Given the description of an element on the screen output the (x, y) to click on. 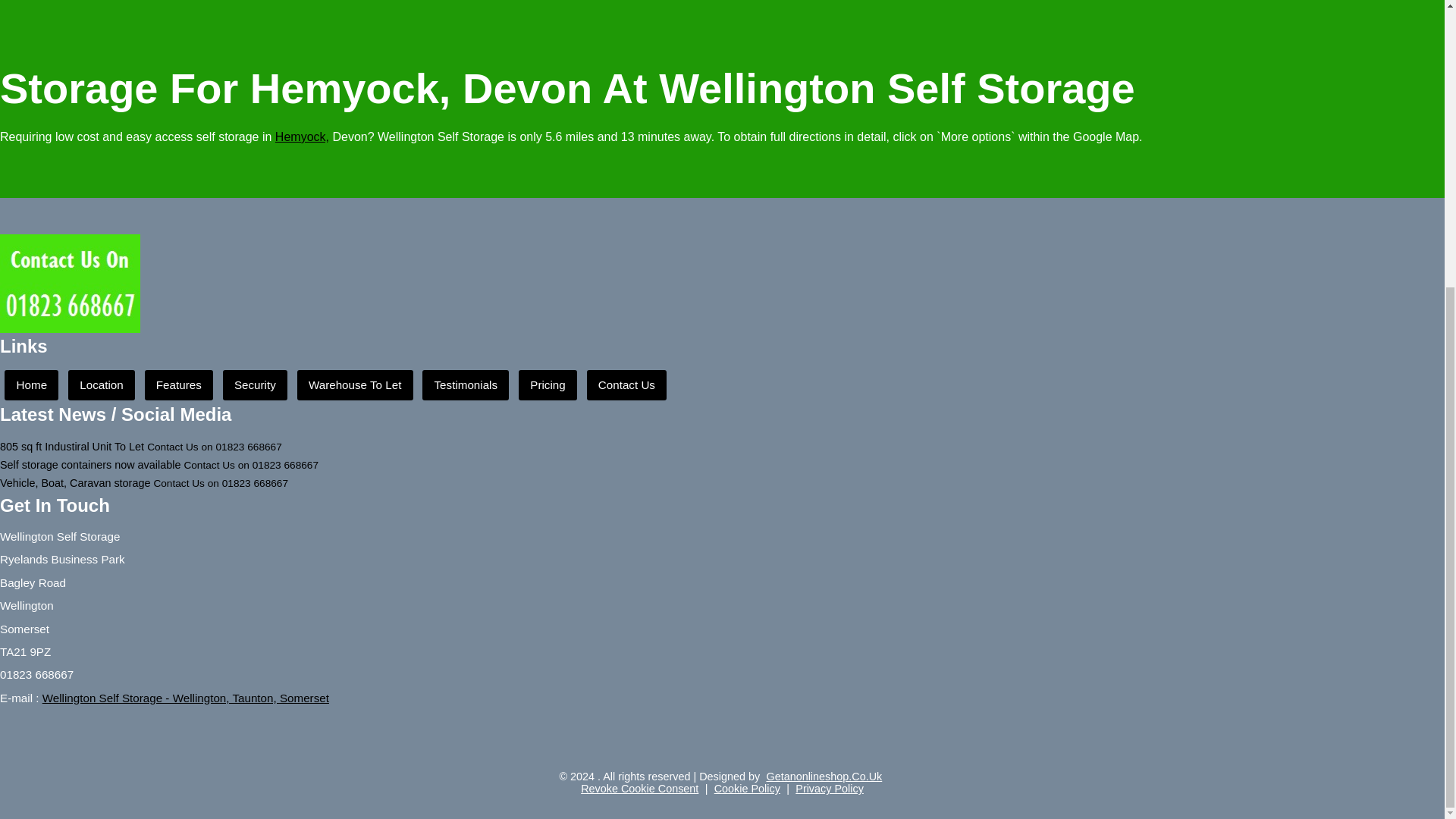
Features (178, 385)
Cookie Policy (747, 788)
Privacy Policy (828, 788)
Wellington Self Storage - Wellington, Taunton, Somerset (185, 697)
Location (101, 385)
Home (31, 385)
Pricing (547, 385)
Hemyock, (302, 136)
Testimonials (465, 385)
Warehouse To Let (355, 385)
Contact Us (626, 385)
Getanonlineshop.Co.Uk (823, 776)
Revoke Cookie Consent (639, 788)
Security (254, 385)
